Given the description of an element on the screen output the (x, y) to click on. 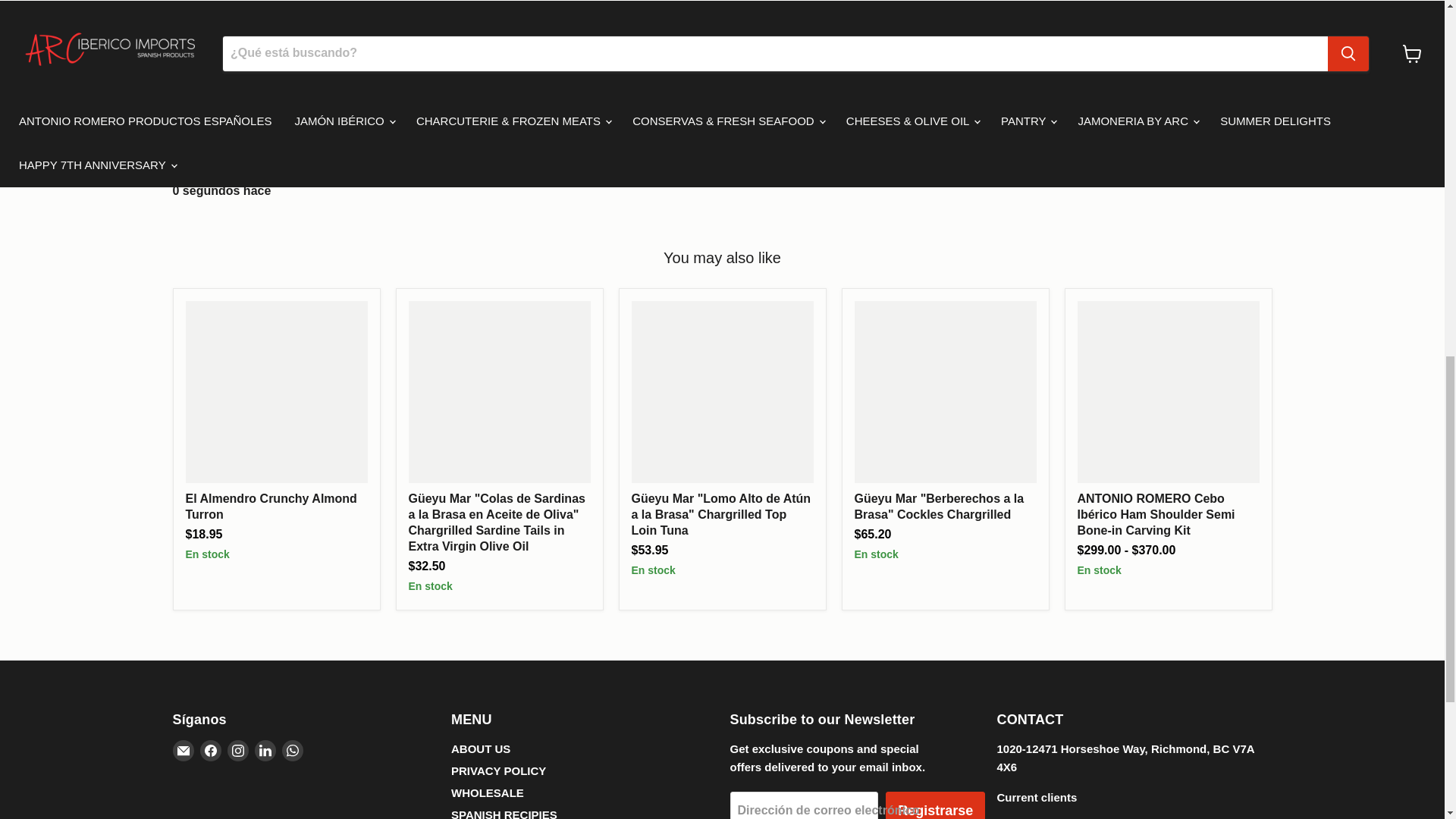
Facebook (210, 750)
